Given the description of an element on the screen output the (x, y) to click on. 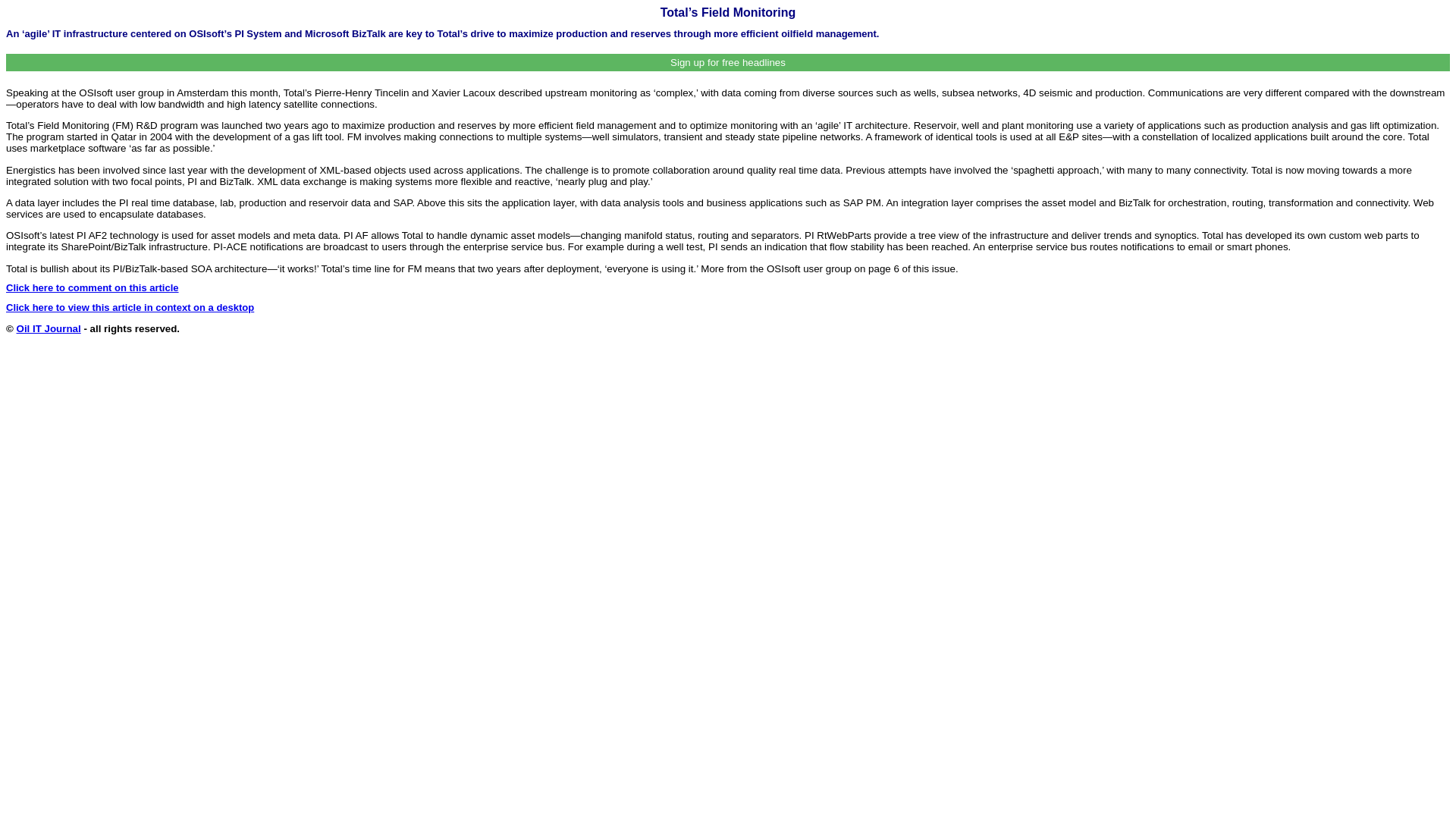
Oil IT Journal (48, 328)
Click here to view this article in context on a desktop (129, 307)
Sign up for free headlines (727, 62)
Click here to comment on this article (92, 287)
